Given the description of an element on the screen output the (x, y) to click on. 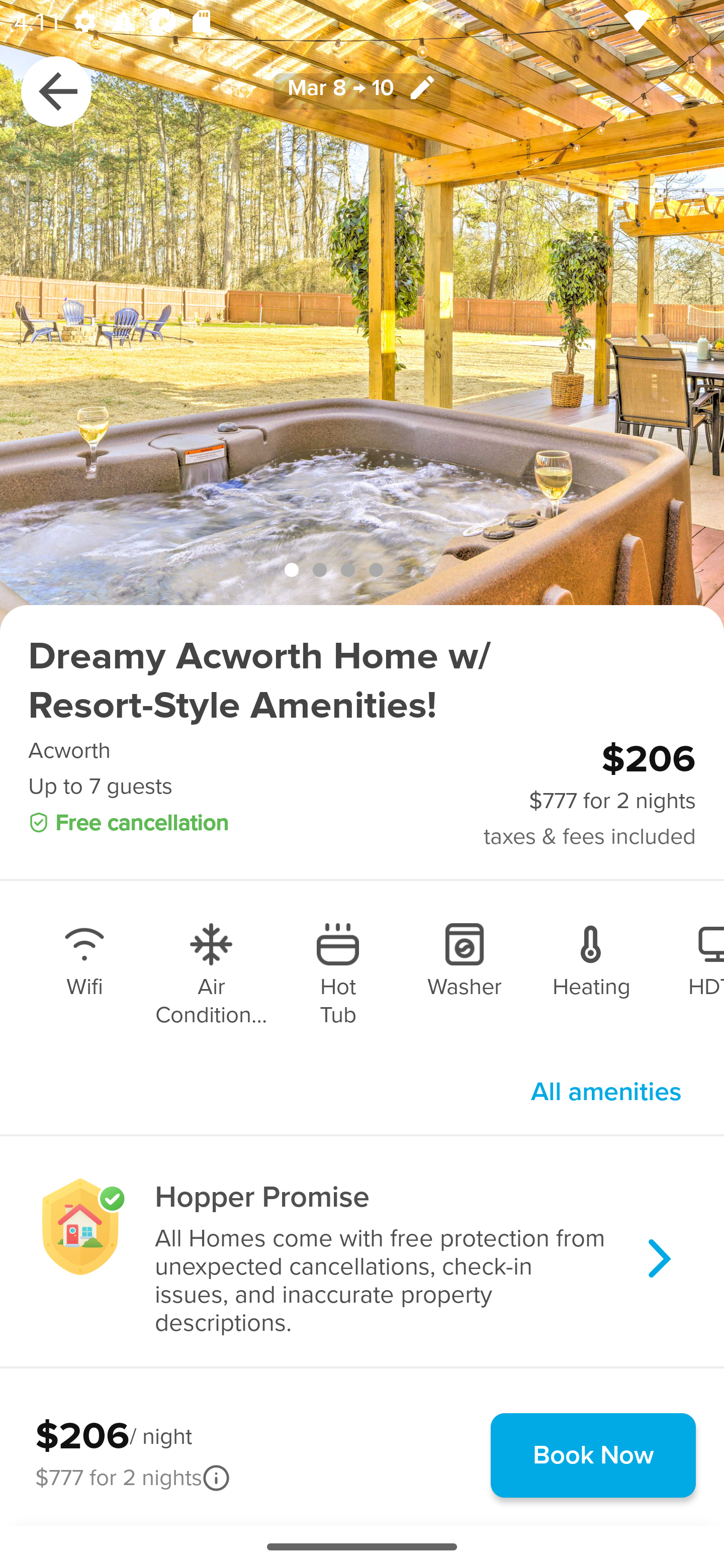
Mar 8 → 10 (361, 90)
Dreamy Acworth Home w/ Resort-Style Amenities! (361, 681)
All amenities (606, 1091)
Book Now (592, 1454)
